Given the description of an element on the screen output the (x, y) to click on. 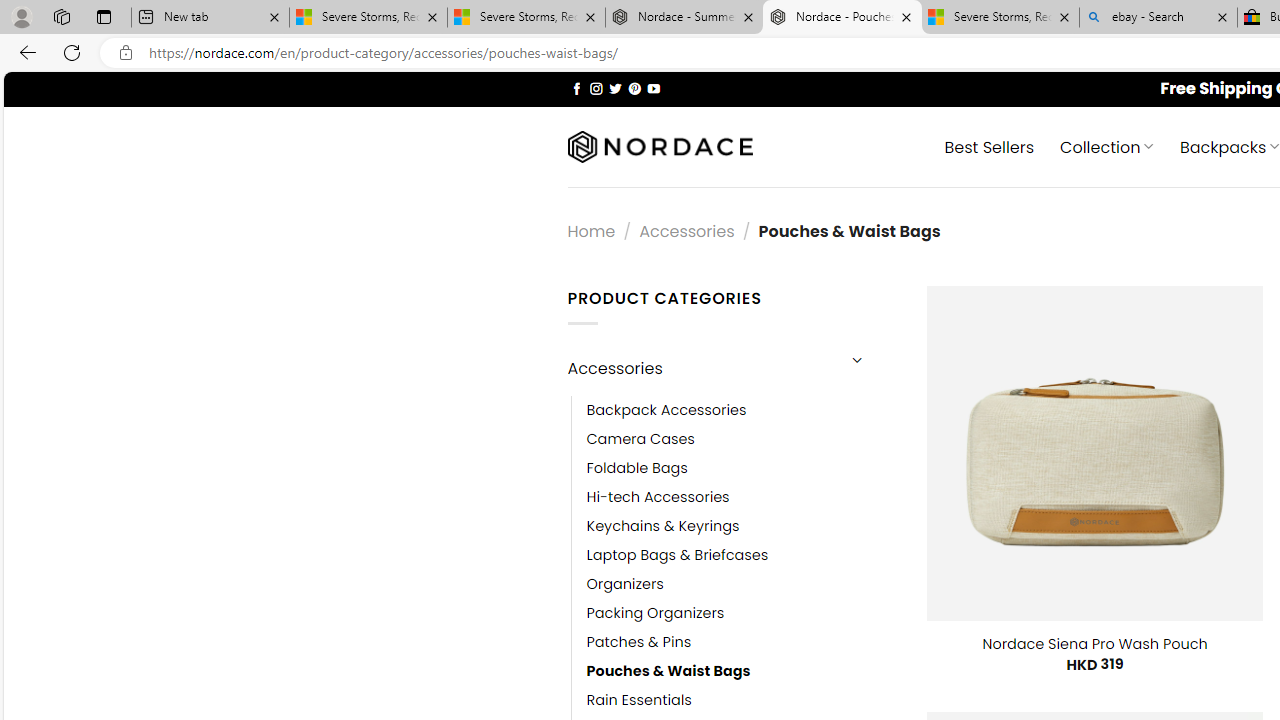
ebay - Search (1158, 17)
Keychains & Keyrings (742, 526)
Packing Organizers (655, 614)
Backpack Accessories (742, 409)
Keychains & Keyrings (662, 526)
Hi-tech Accessories (657, 496)
Foldable Bags (742, 467)
Home (591, 230)
Follow on Instagram (596, 88)
Organizers (625, 584)
